Given the description of an element on the screen output the (x, y) to click on. 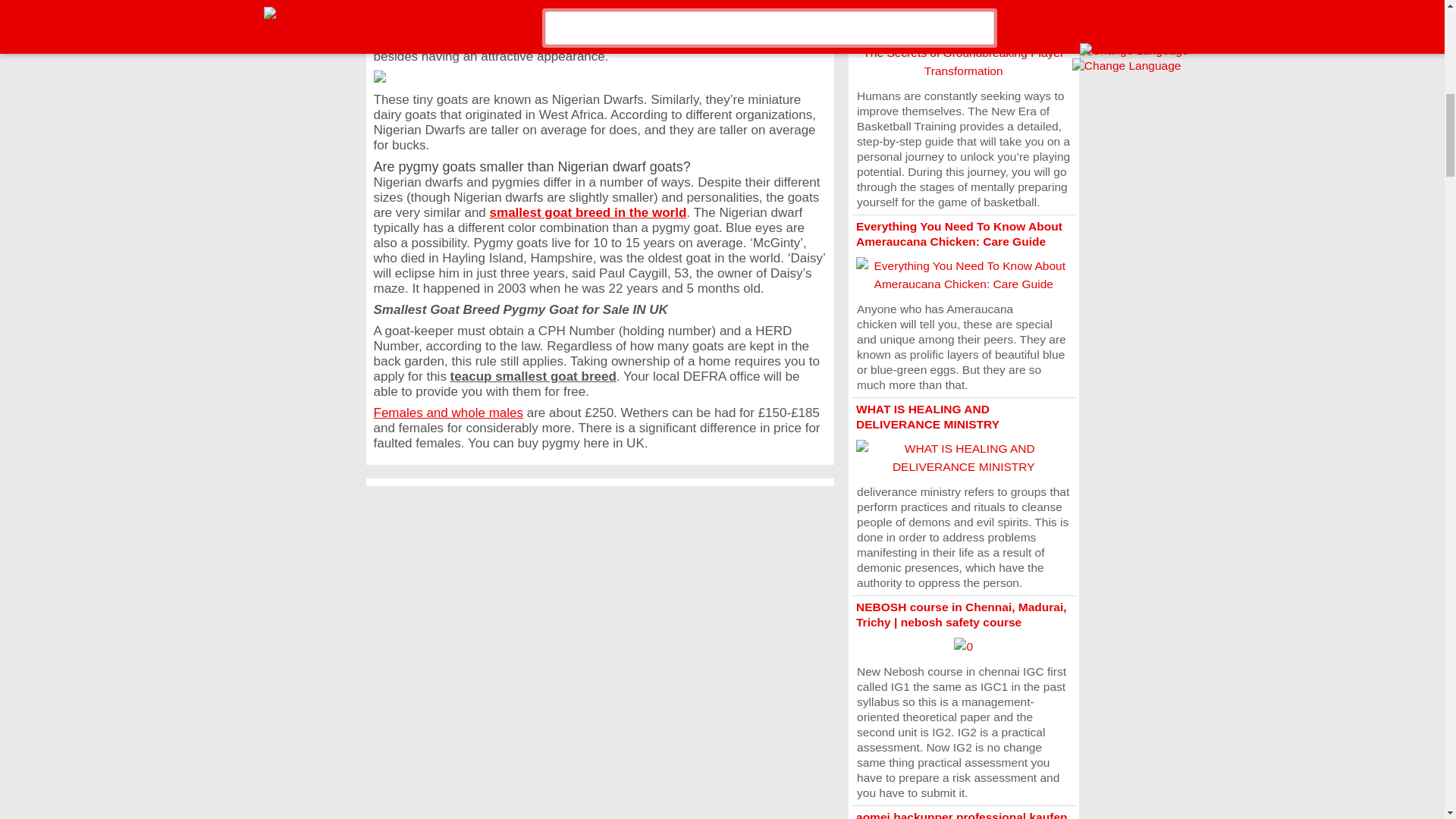
WHAT IS HEALING AND DELIVERANCE MINISTRY (927, 416)
smallest goat breed in the world (588, 212)
Females and whole males (447, 412)
smallest breed of goat (609, 41)
